Given the description of an element on the screen output the (x, y) to click on. 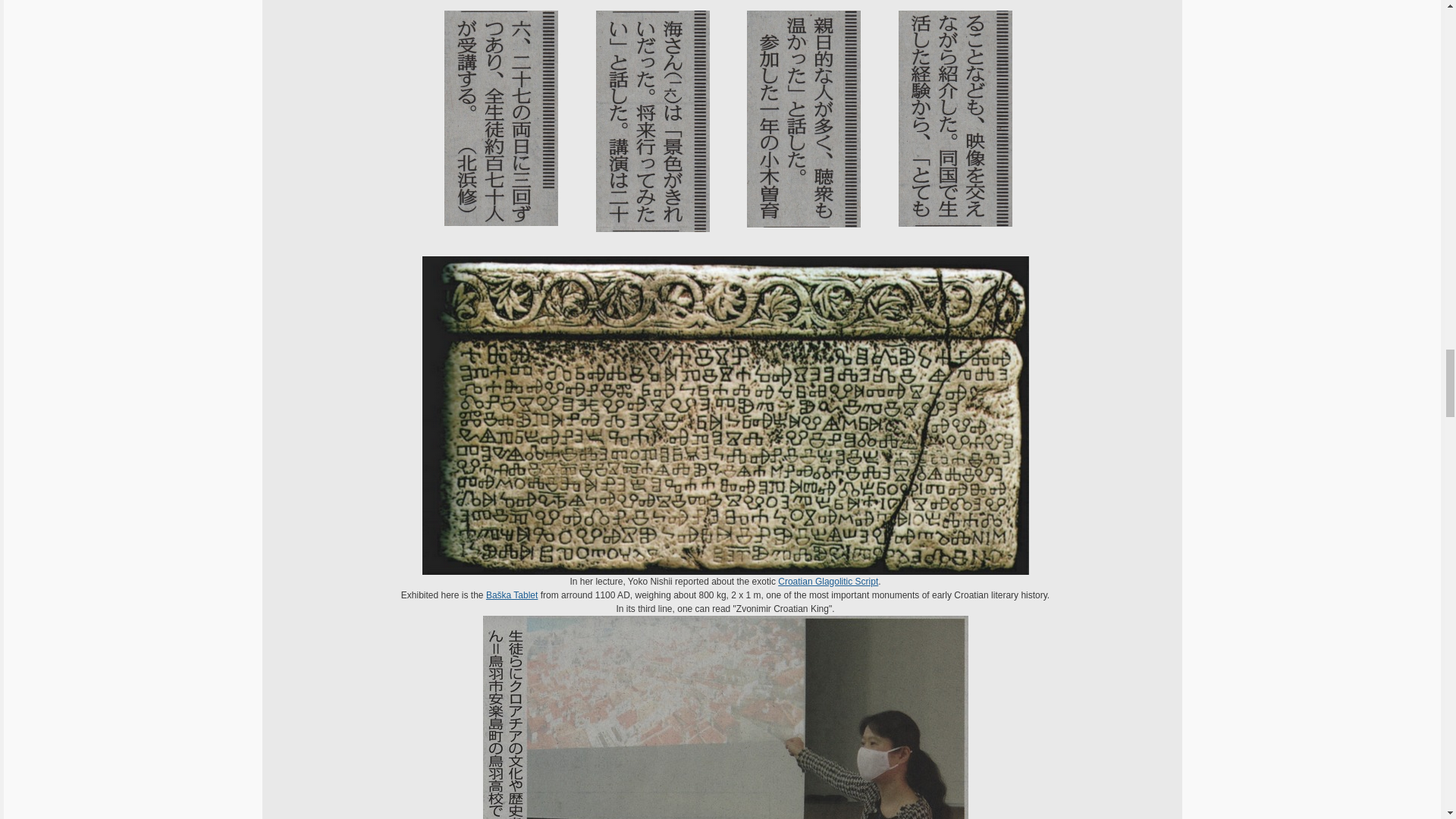
Croatian Glagolitic Script (827, 581)
